Given the description of an element on the screen output the (x, y) to click on. 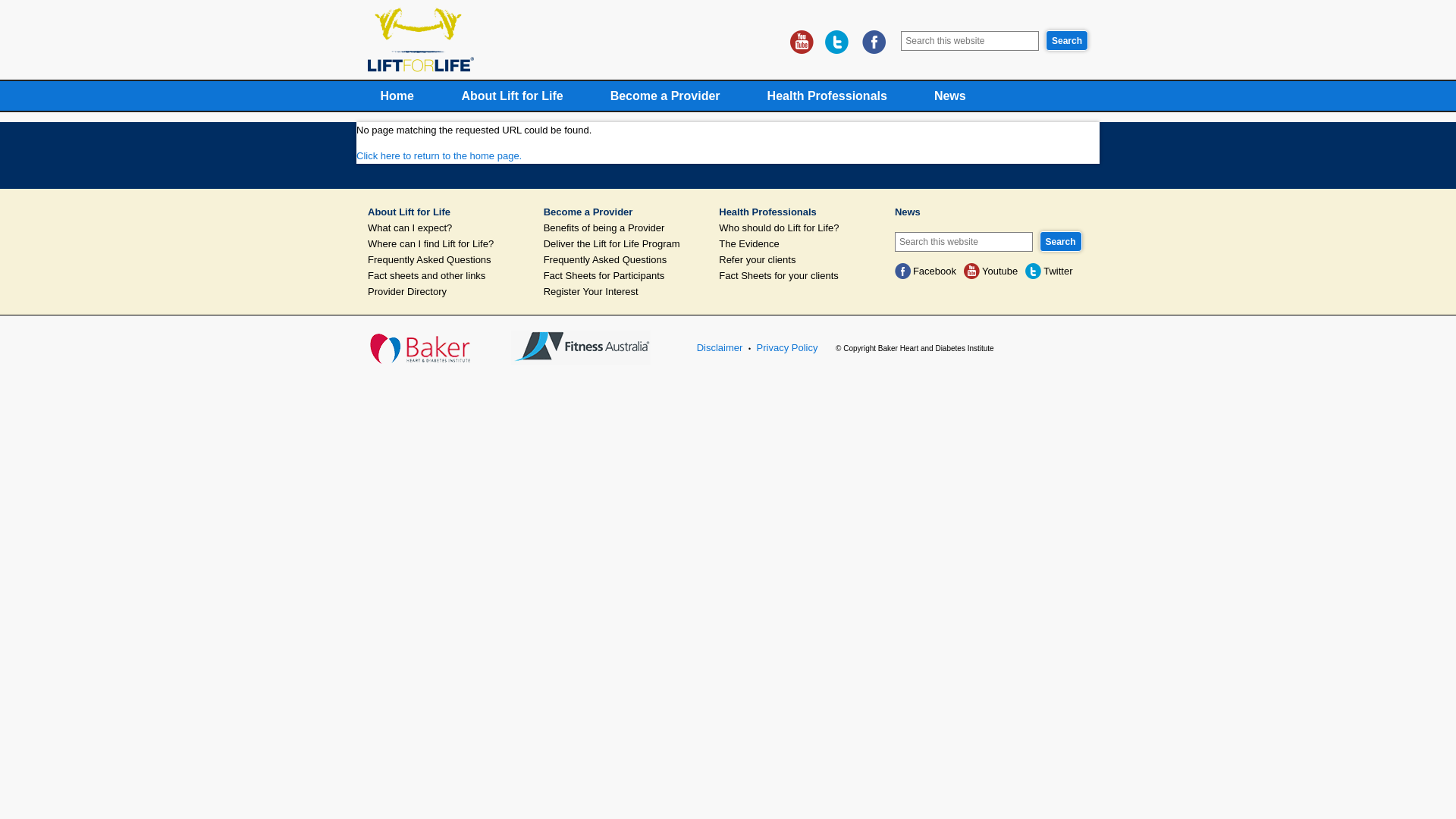
Health Professionals Element type: text (797, 211)
Refer your clients Element type: text (797, 259)
Baker Element type: hover (426, 347)
Become a Provider Element type: text (622, 211)
Become a Provider Element type: text (664, 95)
Fact Sheets for your clients Element type: text (797, 275)
Deliver the Lift for Life Program Element type: text (622, 243)
Who should do Lift for Life? Element type: text (797, 227)
Health Professionals Element type: text (826, 95)
Provider Directory Element type: text (446, 291)
Fact sheets and other links Element type: text (446, 275)
Benefits of being a Provider Element type: text (622, 227)
What can I expect? Element type: text (446, 227)
News Element type: text (949, 95)
Click here to return to the home page. Element type: text (438, 155)
Frequently Asked Questions Element type: text (622, 259)
Search Element type: text (1066, 40)
About Lift for Life Element type: text (446, 211)
Disclaimer Element type: text (719, 347)
About Lift for Life Element type: text (511, 95)
News Element type: text (990, 211)
Facebook Element type: text (925, 271)
Fitness Australia Element type: hover (580, 347)
Twitter Element type: text (1048, 271)
Register Your Interest Element type: text (622, 291)
Search Element type: text (1059, 241)
The Evidence Element type: text (797, 243)
Where can I find Lift for Life? Element type: text (446, 243)
Fact Sheets for Participants Element type: text (622, 275)
Home Element type: text (396, 95)
Youtube Element type: text (990, 271)
Frequently Asked Questions Element type: text (446, 259)
Privacy Policy Element type: text (787, 347)
